Given the description of an element on the screen output the (x, y) to click on. 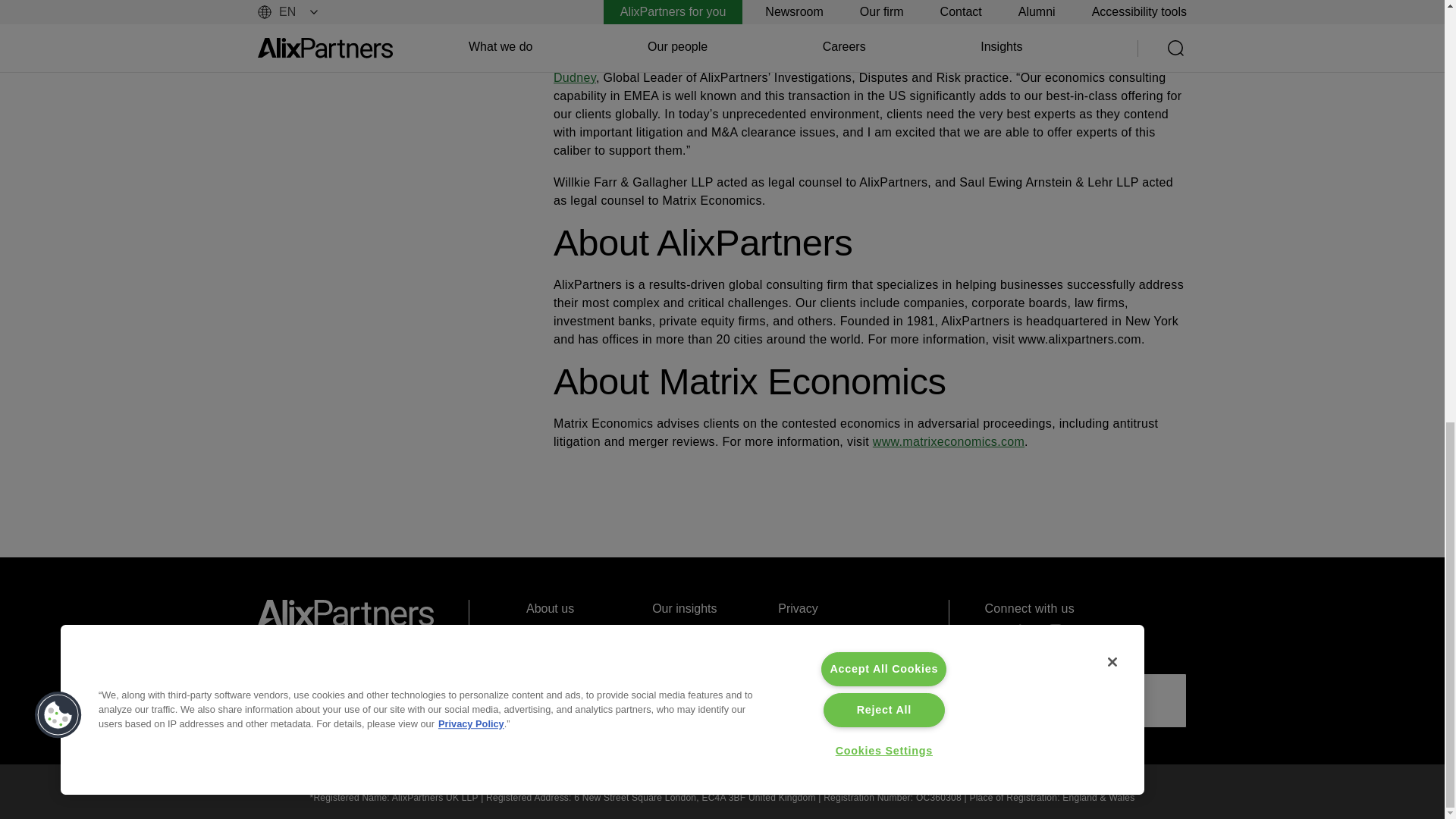
Cookies (834, 633)
www.matrixeconomics.com (948, 440)
Check out our Instagram fan page (1054, 631)
Check out our YouTube channel (994, 631)
Legal and Regulatory (834, 666)
Louis Dudney (829, 68)
Our offices (708, 681)
About us (582, 608)
Accessibility (834, 700)
Careers (708, 633)
Louis Dudney (829, 68)
What we do (582, 657)
AlixPartners for you (708, 657)
Our insights (708, 608)
Go to home page (345, 612)
